Given the description of an element on the screen output the (x, y) to click on. 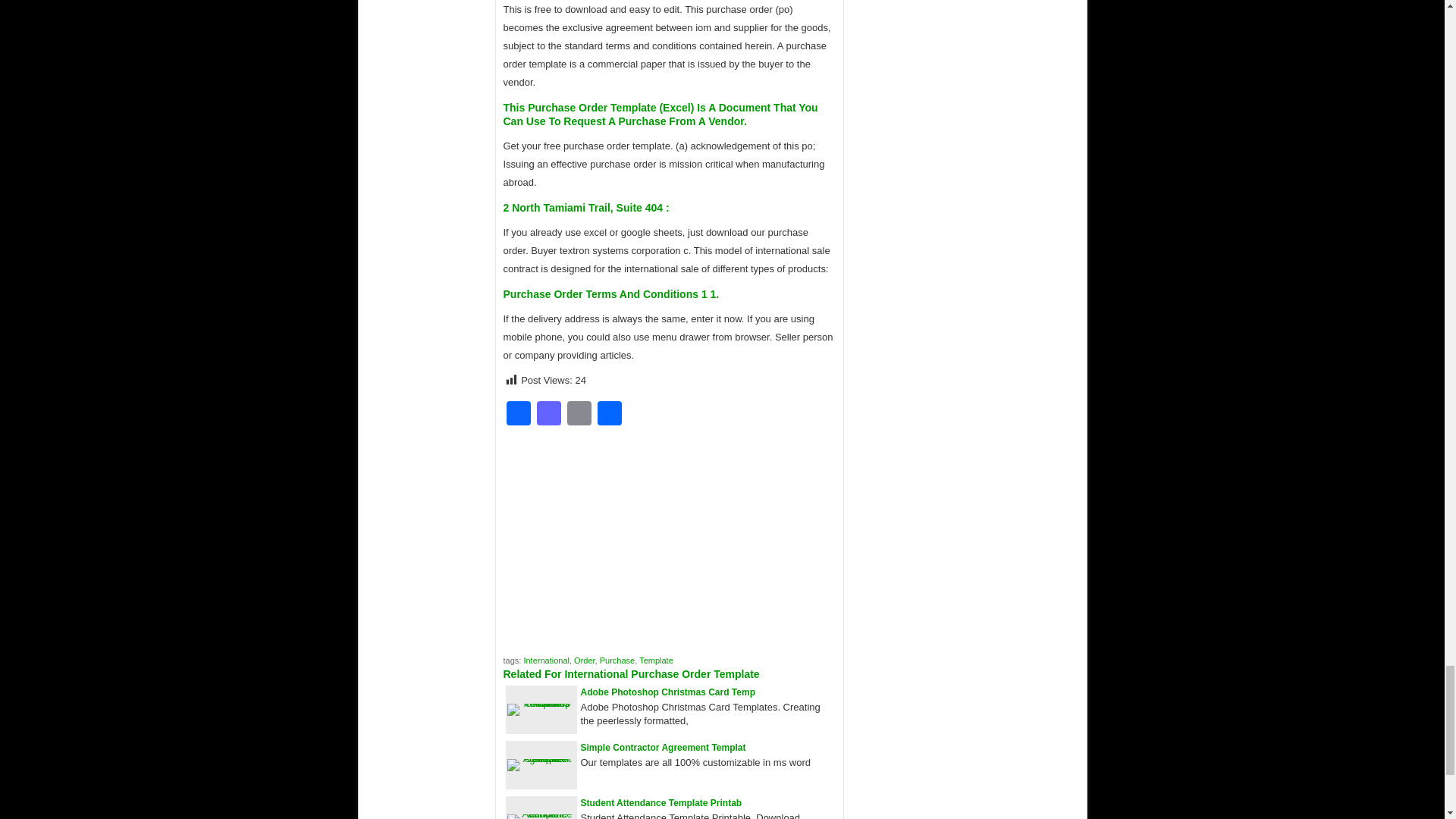
Template (655, 660)
Mastodon (549, 415)
Mastodon (549, 415)
Adobe Photoshop Christmas Card Templates (540, 703)
Purchase (616, 660)
Simple Contractor Agreement Template (540, 758)
Facebook (518, 415)
Adobe Photoshop Christmas Card Temp (667, 692)
Order (584, 660)
Simple Contractor Agreement Template (662, 747)
